Given the description of an element on the screen output the (x, y) to click on. 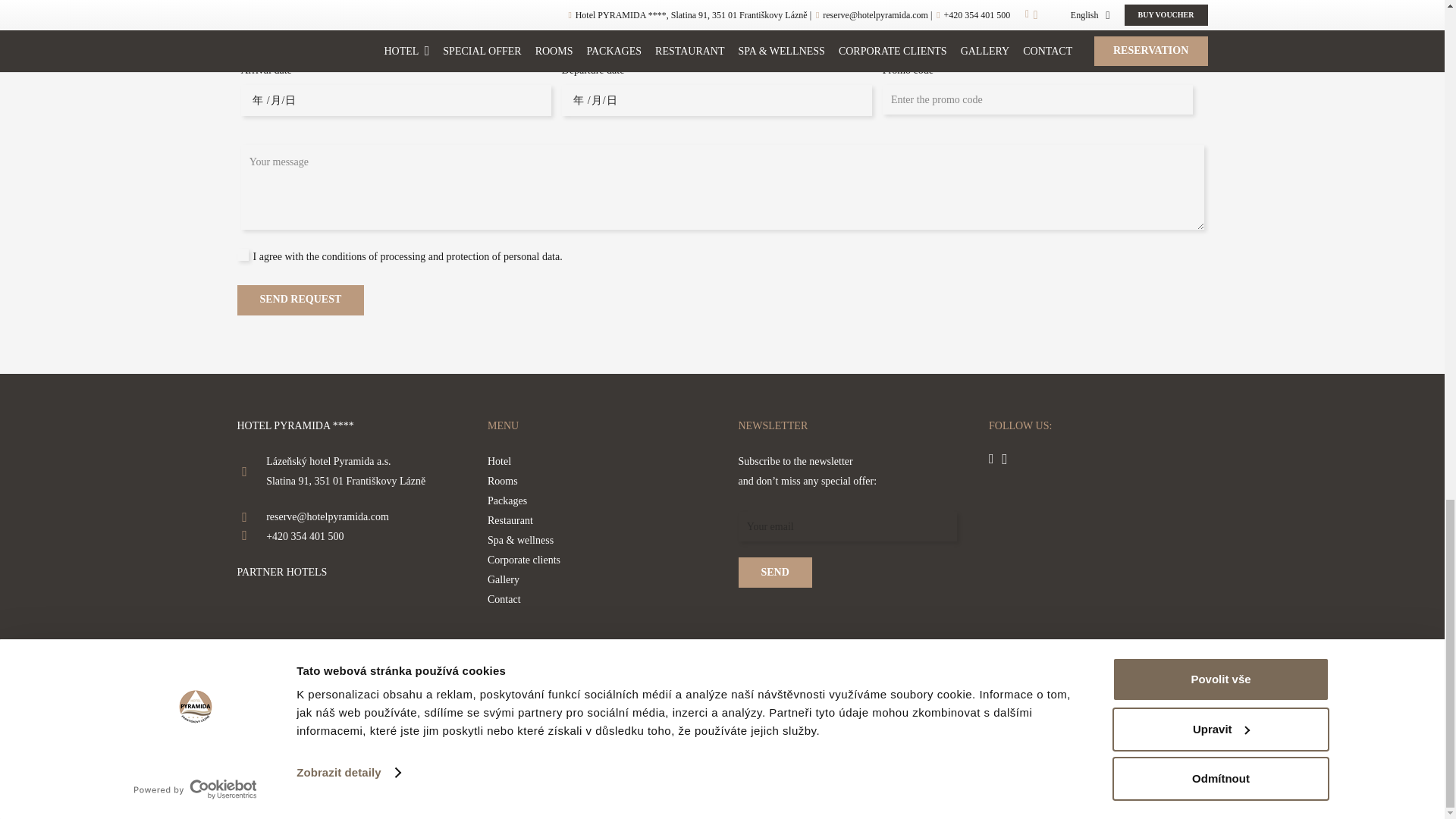
Send request (299, 300)
Send (775, 572)
1 (241, 254)
